Given the description of an element on the screen output the (x, y) to click on. 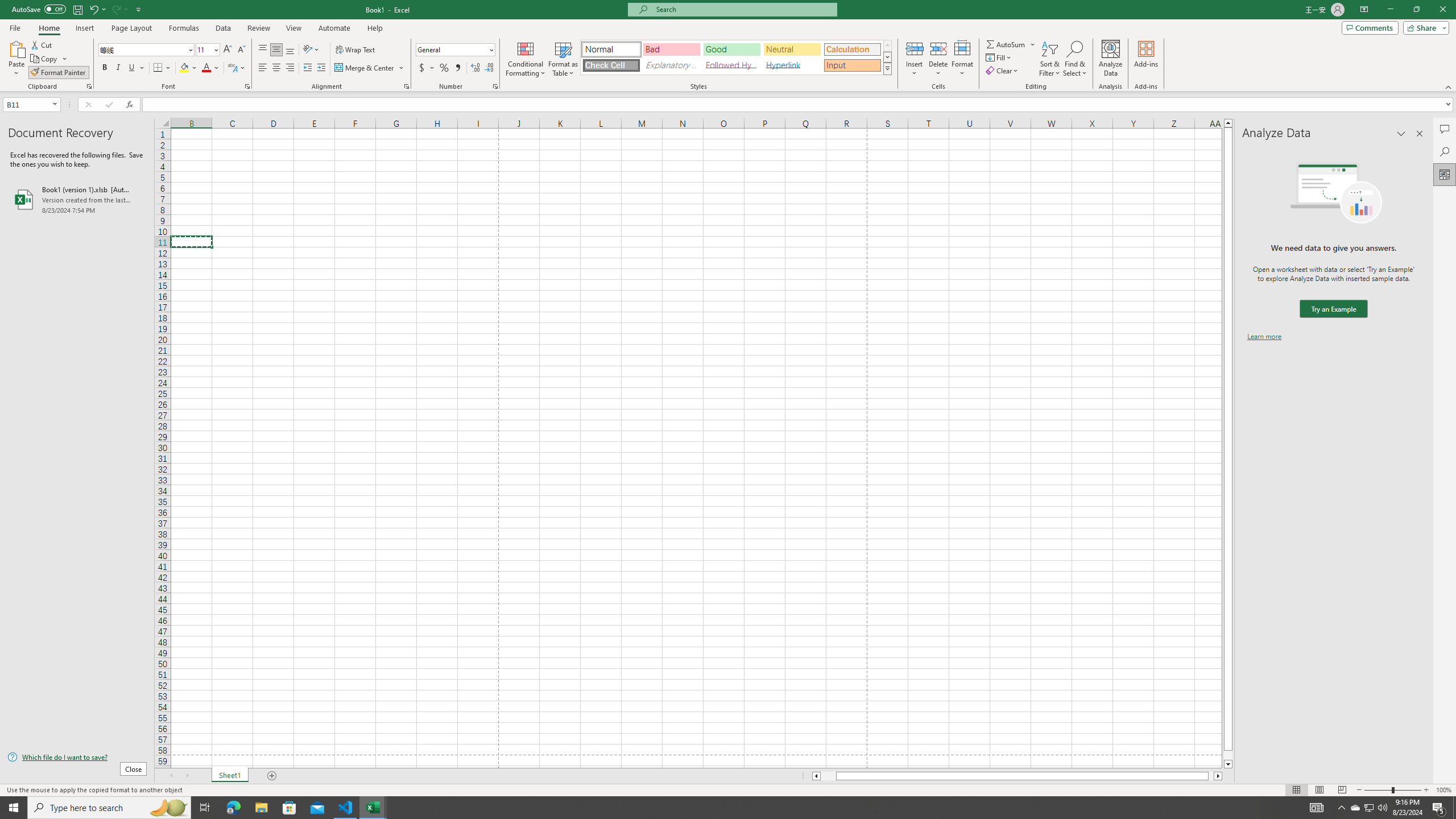
Show Phonetic Field (231, 67)
Bottom Border (157, 67)
Font Color RGB(255, 0, 0) (206, 67)
Format Cell Font (247, 85)
Font (147, 49)
Fill Color (188, 67)
Format Cell Number (494, 85)
Good (731, 49)
Font (142, 49)
